Given the description of an element on the screen output the (x, y) to click on. 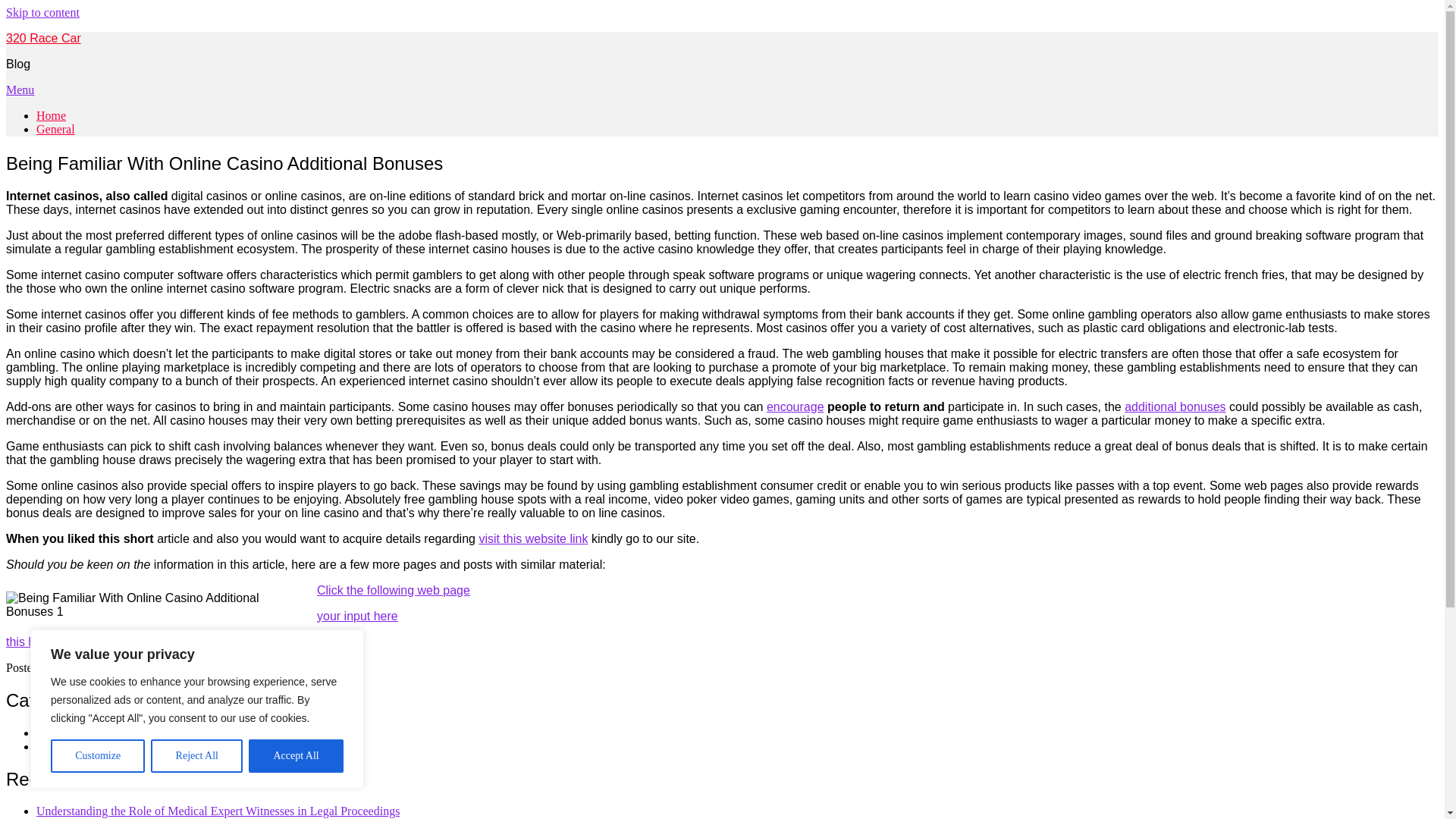
320 Race Car (43, 38)
Menu (19, 89)
additional bonuses (1174, 406)
your input here (357, 615)
visit this website link (533, 538)
Click the following web page (393, 590)
encourage (795, 406)
Reject All (197, 756)
General (73, 667)
